Given the description of an element on the screen output the (x, y) to click on. 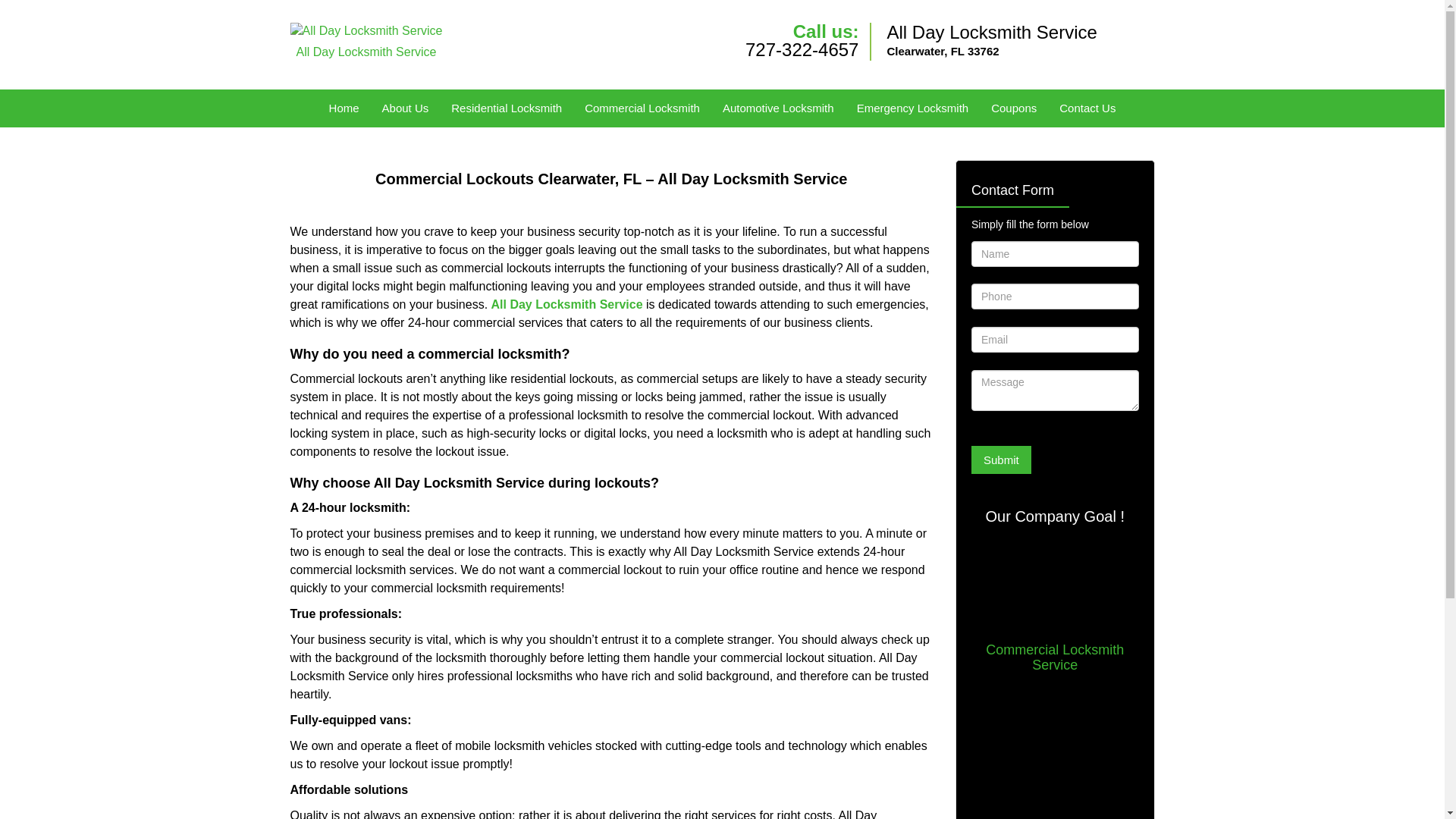
About Us (406, 108)
Submit (1000, 459)
Automotive Locksmith (778, 108)
Residential Locksmith (506, 108)
Contact Us (1087, 108)
Email Field required (1054, 339)
Commercial Locksmith Service (1054, 657)
Name Field required (1054, 253)
Coupons (1013, 108)
Submit (1000, 459)
Home (344, 108)
Emergency Locksmith (912, 108)
All Day Locksmith Service (567, 304)
Commercial Locksmith (642, 108)
Message Field require (1054, 390)
